Given the description of an element on the screen output the (x, y) to click on. 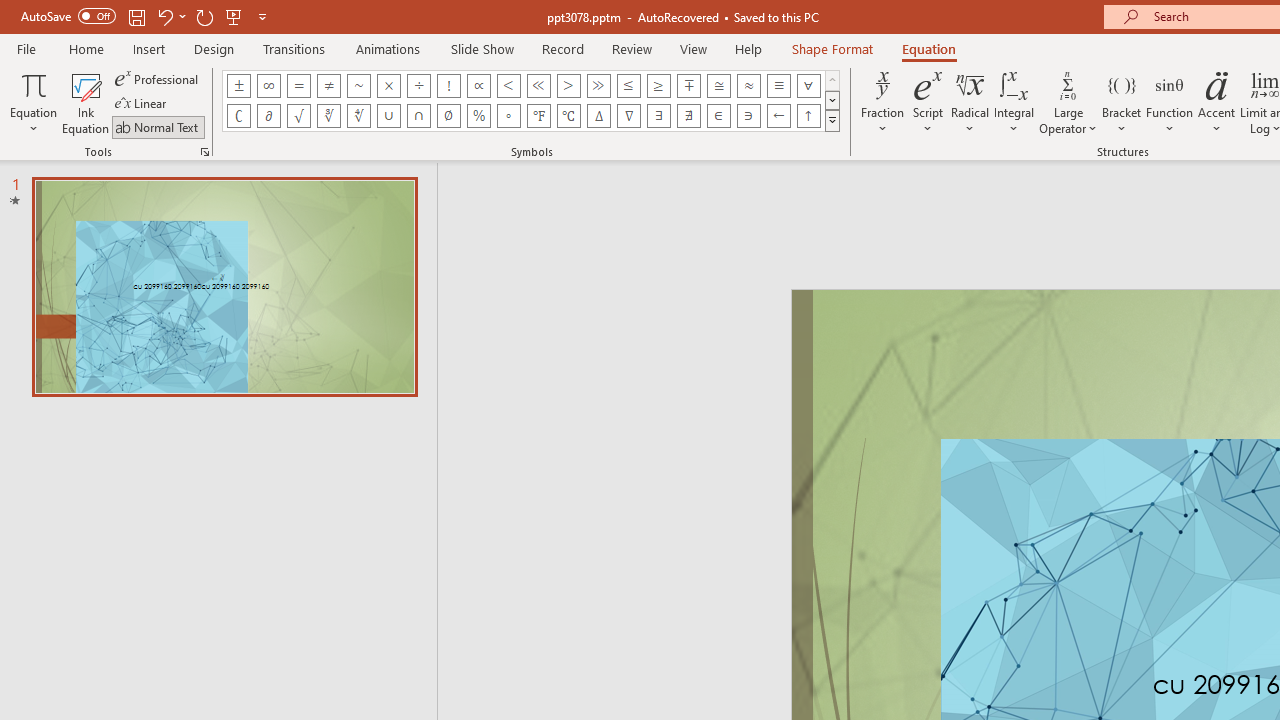
Equation Symbol For All (808, 85)
Equation Symbols (832, 120)
Equation Symbol Degrees Celsius (568, 115)
Equation Symbol Element Of (718, 115)
Equation Symbol Up Arrow (808, 115)
Equation Symbol Much Less Than (538, 85)
Equation Symbol Greater Than (568, 85)
Ink Equation (86, 102)
